Given the description of an element on the screen output the (x, y) to click on. 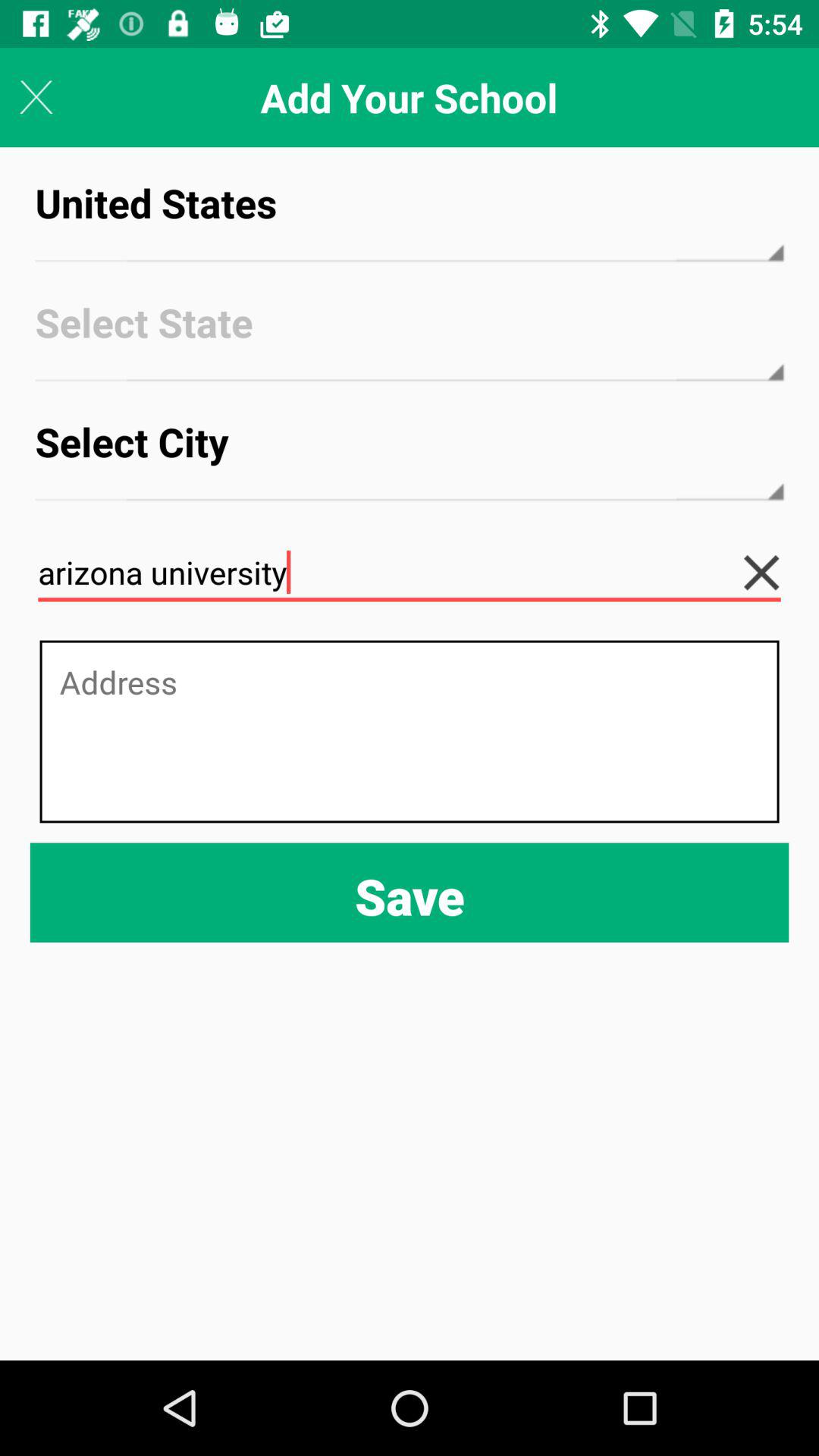
choose the icon above the arizona university icon (409, 455)
